Given the description of an element on the screen output the (x, y) to click on. 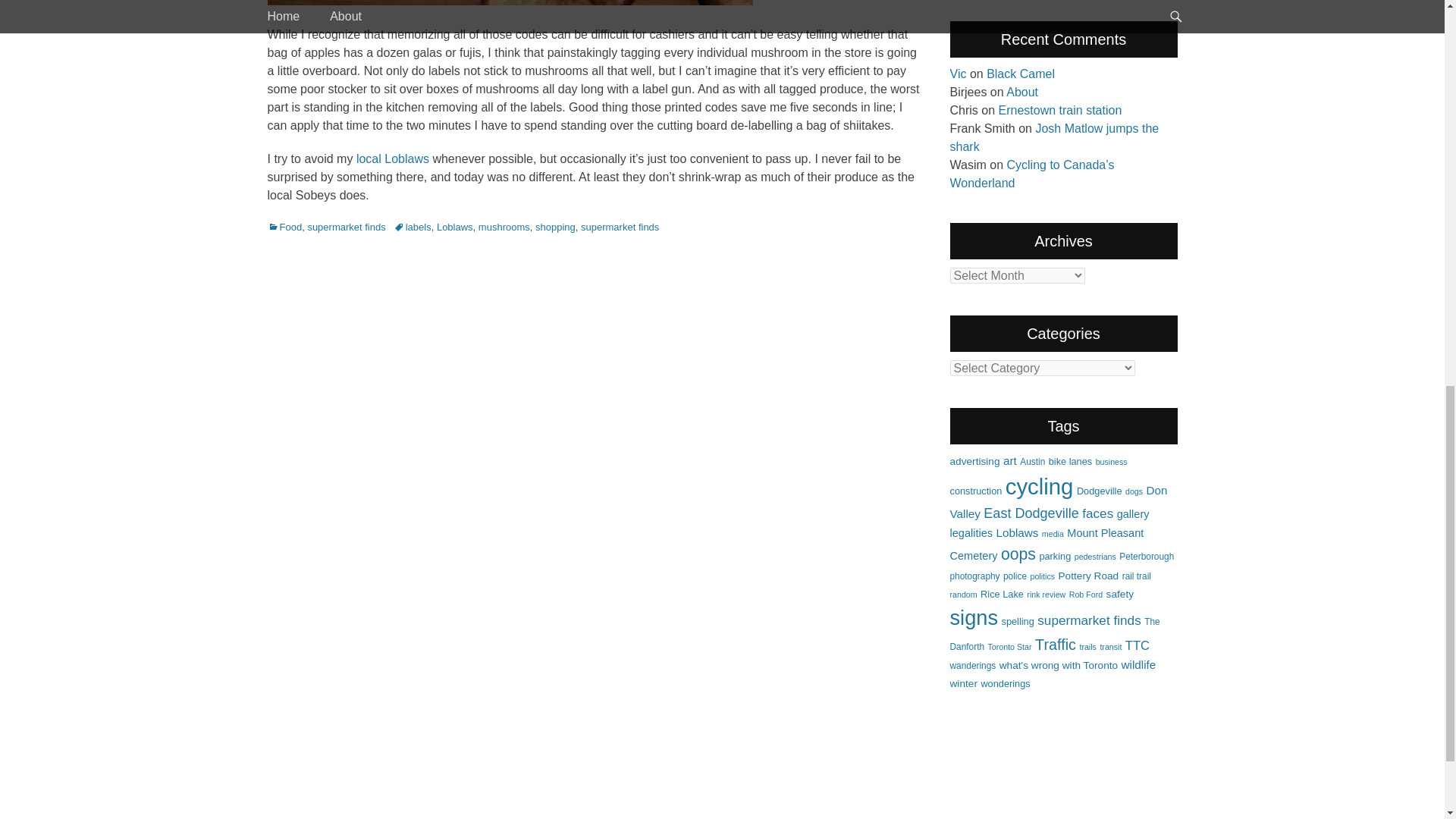
supermarket finds (346, 226)
local Loblaws (392, 157)
shopping (555, 226)
Vic (957, 73)
Black Camel (1020, 73)
About (1022, 91)
Austin (1032, 461)
Food (283, 226)
Loblaws (454, 226)
labels (411, 226)
